Given the description of an element on the screen output the (x, y) to click on. 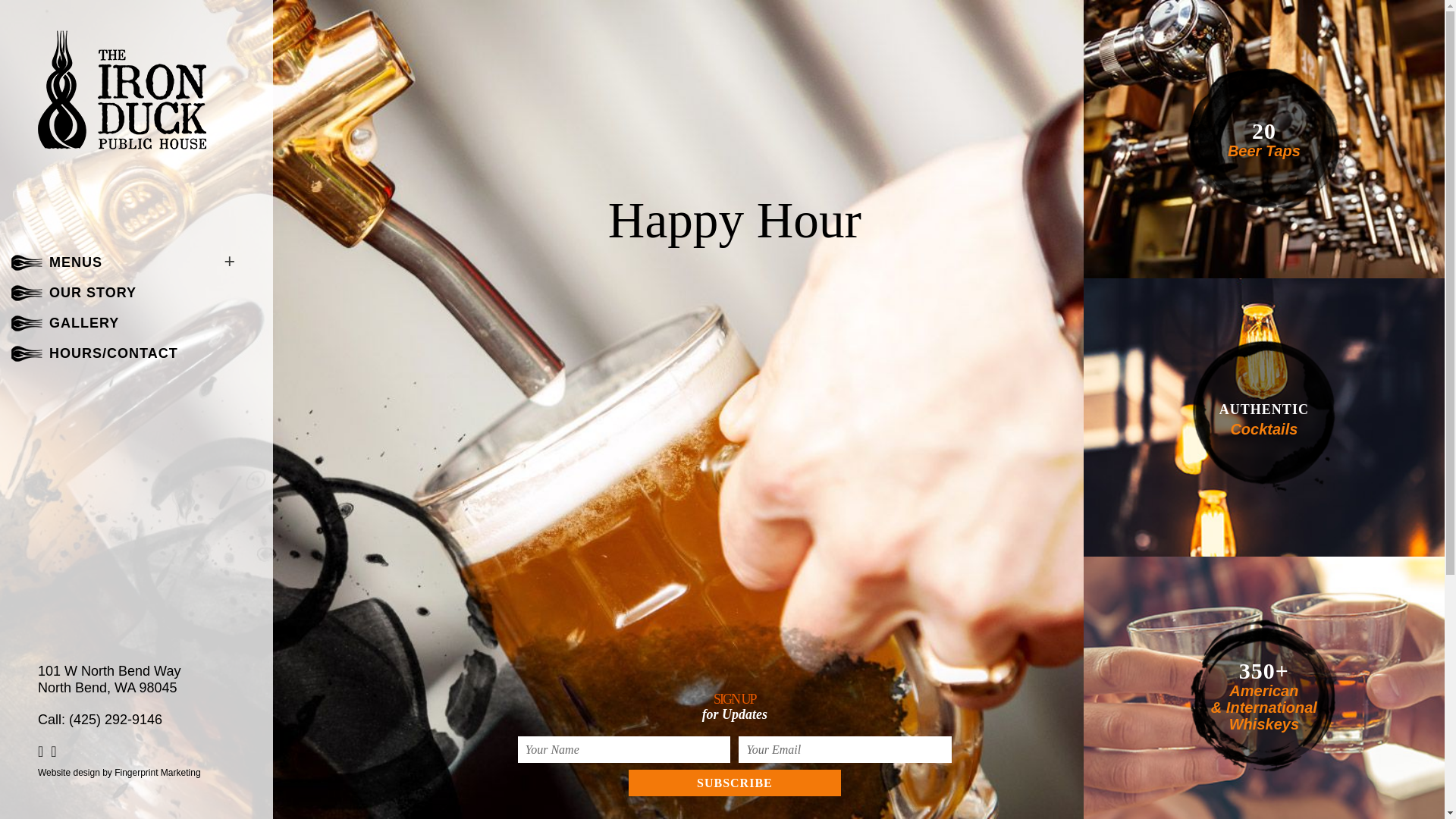
Your Email (845, 749)
Fingerprint Marketing (157, 772)
Your Name (624, 749)
SUBSCRIBE (734, 782)
GALLERY (84, 322)
SUBSCRIBE (734, 782)
OUR STORY (92, 292)
MENUS (75, 262)
